Given the description of an element on the screen output the (x, y) to click on. 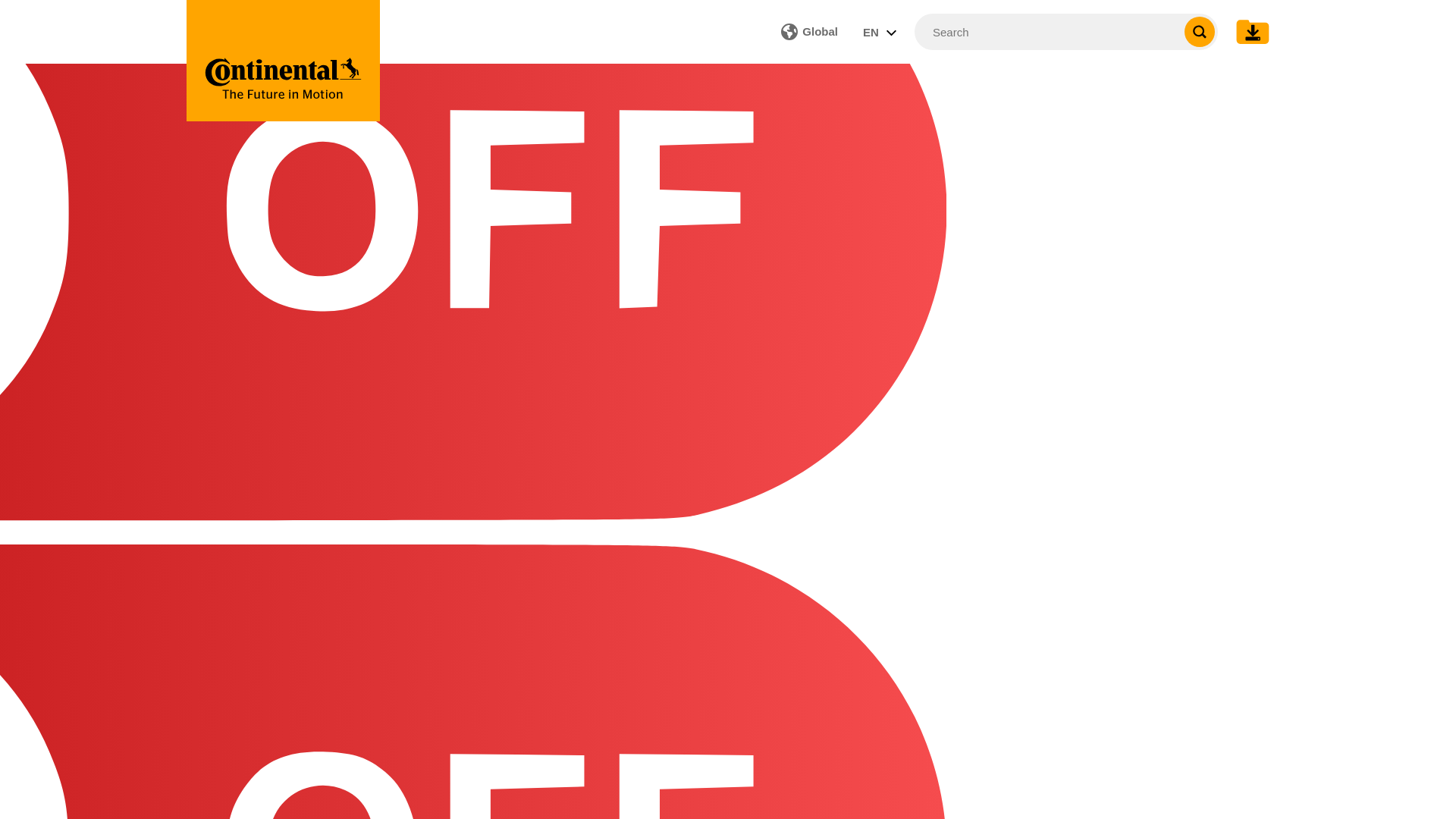
Continental AG (809, 31)
EN (283, 60)
